Given the description of an element on the screen output the (x, y) to click on. 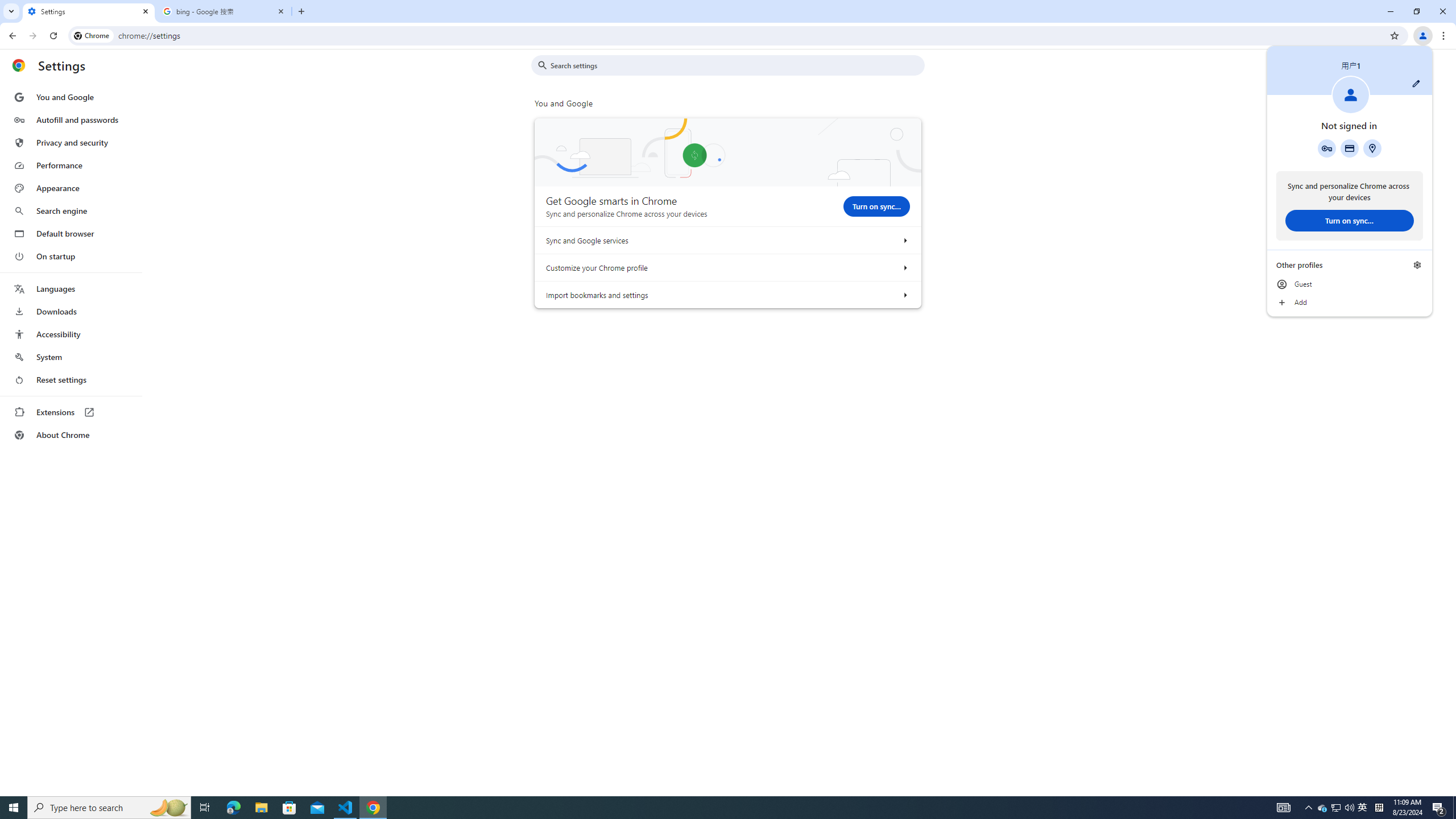
Addresses and more (1371, 148)
Payment methods (1349, 148)
Extensions (70, 412)
Default browser (70, 233)
Start (13, 807)
Manage profiles (1417, 265)
User Promoted Notification Area (1336, 807)
Privacy and security (70, 142)
Google Password Manager (1326, 148)
Notification Chevron (1308, 807)
Sync and Google services (904, 239)
